Given the description of an element on the screen output the (x, y) to click on. 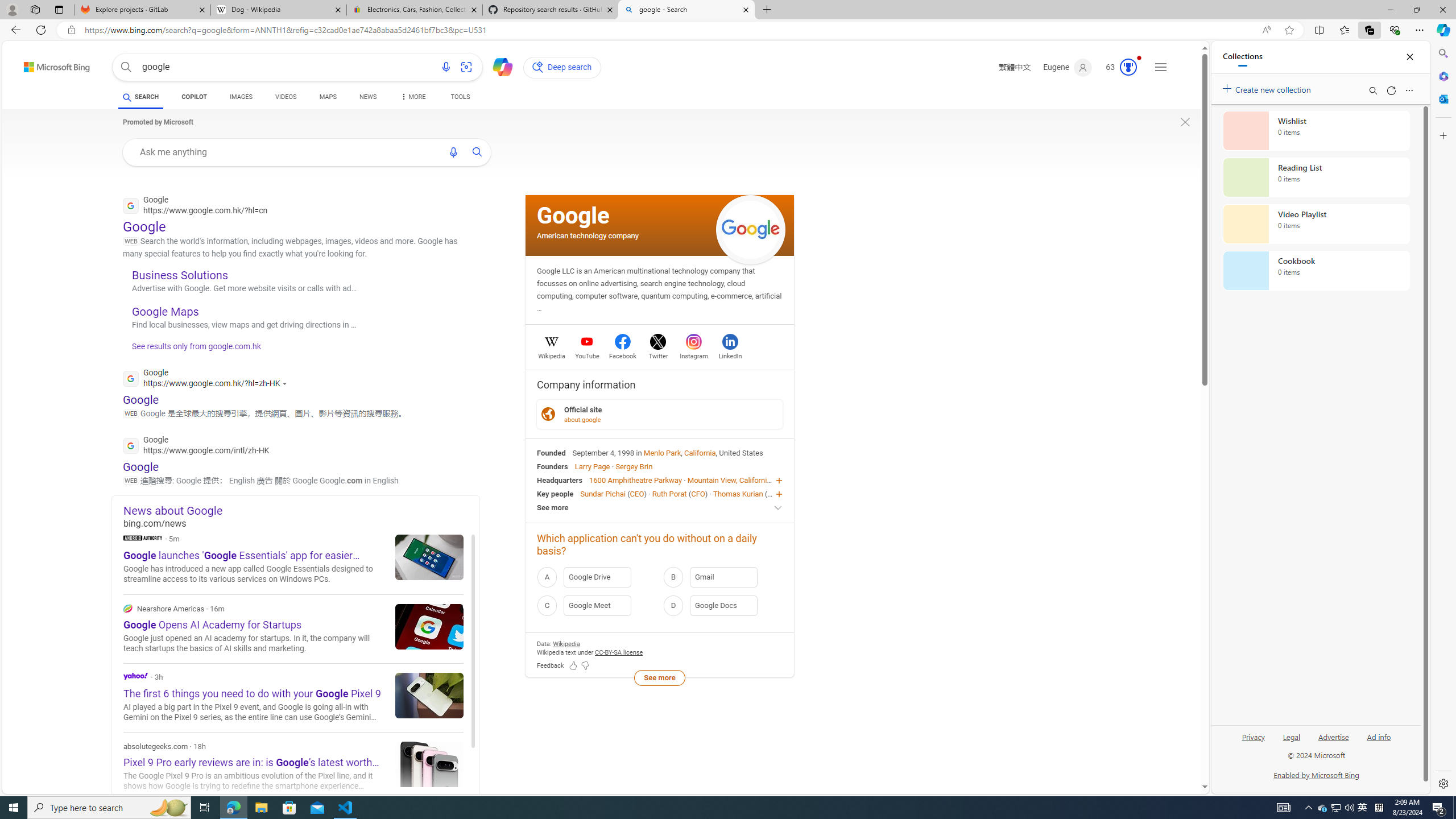
bing.com/news (301, 522)
See more images of Google (751, 228)
Sergey Brin (633, 465)
Outlook (1442, 98)
A Google Drive (596, 576)
Headquarters (559, 479)
Skip to content (36, 63)
Ruth Porat (669, 492)
Thomas Kurian (736, 492)
